Given the description of an element on the screen output the (x, y) to click on. 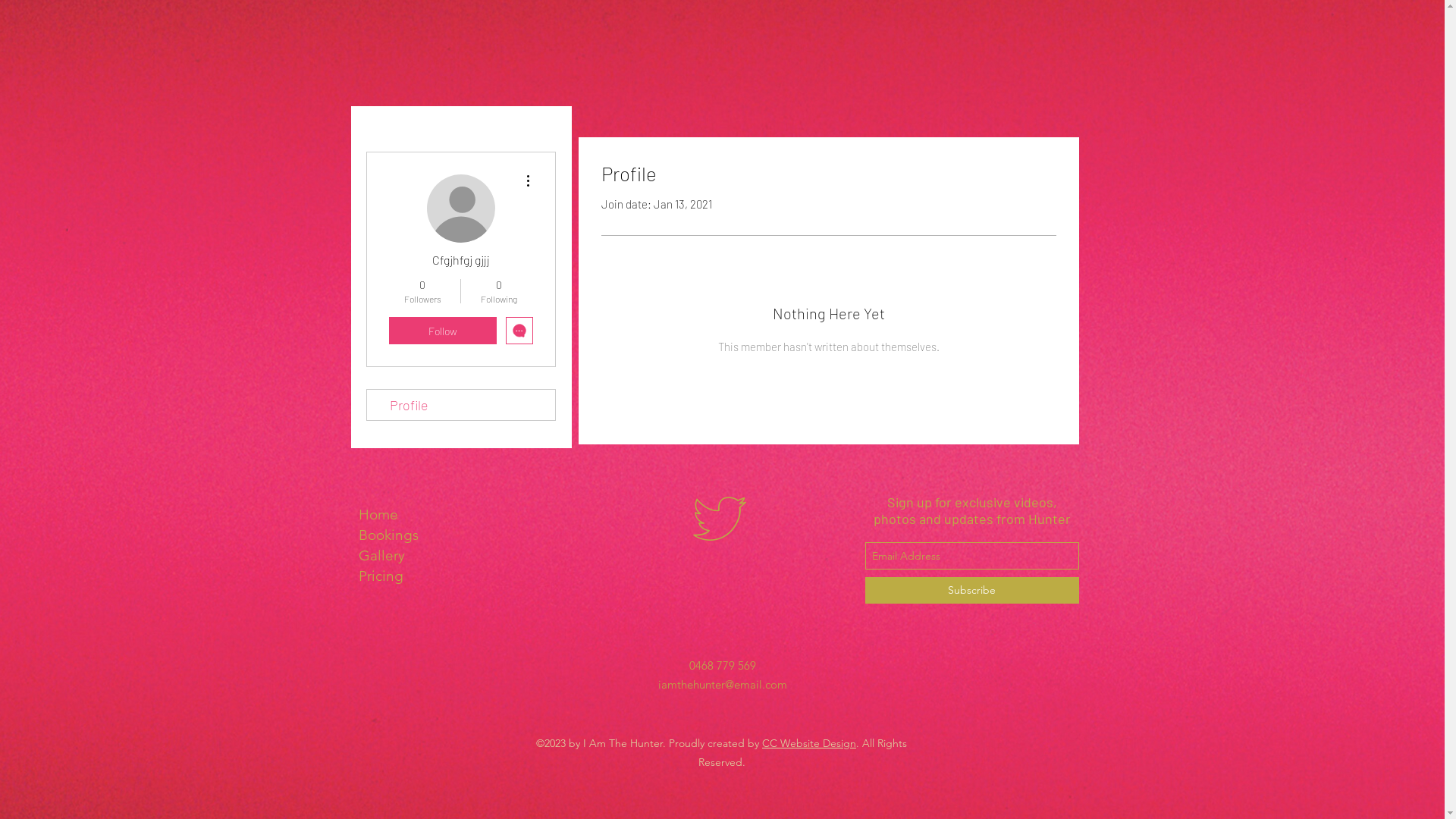
0
Following Element type: text (499, 290)
Gallery Element type: text (424, 555)
CC Website Design Element type: text (809, 742)
Follow Element type: text (441, 330)
Bookings Element type: text (424, 534)
Pricing Element type: text (424, 575)
Subscribe Element type: text (971, 590)
Profile Element type: text (461, 404)
0468 779 569 Element type: text (721, 665)
Home Element type: text (424, 514)
iamthehunter@email.com Element type: text (722, 682)
0
Followers Element type: text (421, 290)
